Given the description of an element on the screen output the (x, y) to click on. 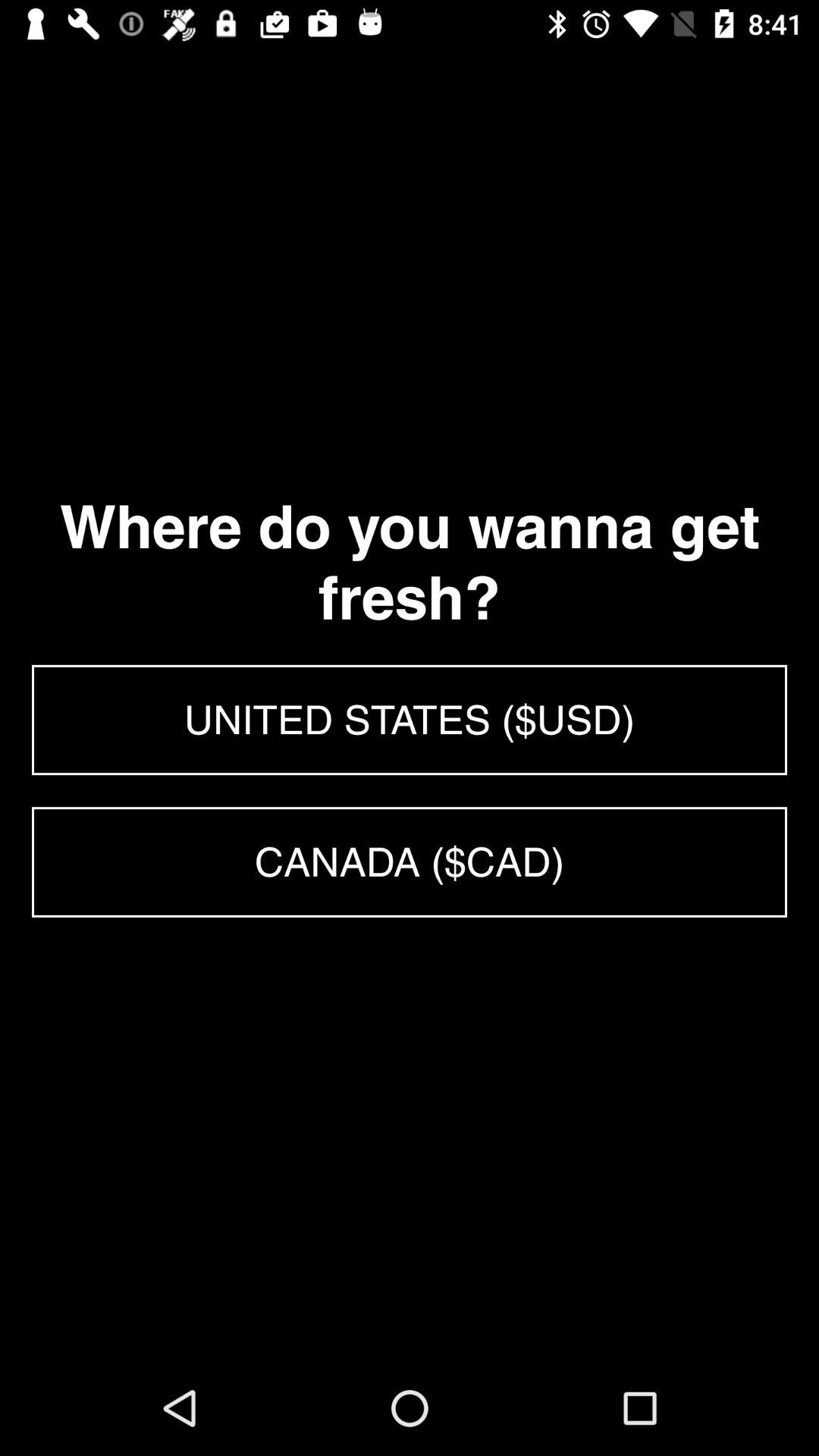
turn off the icon below the where do you (409, 719)
